Given the description of an element on the screen output the (x, y) to click on. 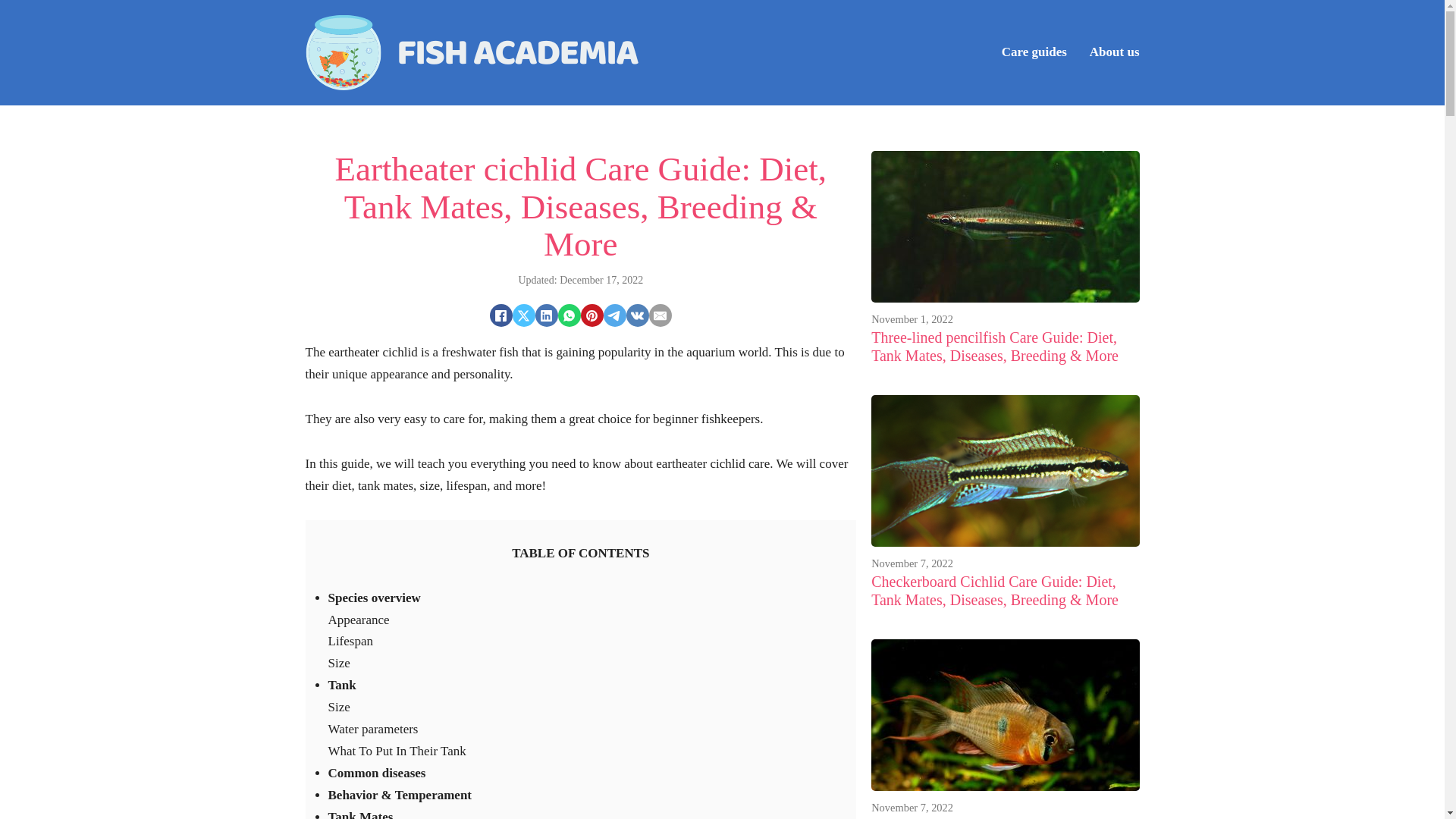
Size (338, 663)
Lifespan (349, 640)
Appearance (357, 619)
What To Put In Their Tank (396, 750)
Size (338, 707)
Care guides (1034, 52)
Tank (341, 685)
Species overview (373, 597)
Tank Mates (360, 814)
Water parameters (372, 728)
